Given the description of an element on the screen output the (x, y) to click on. 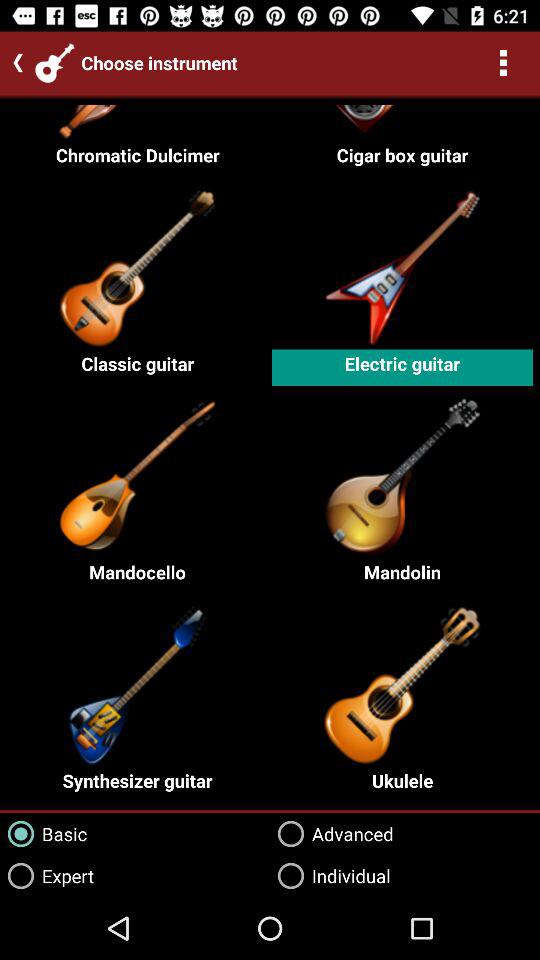
select the image above the text synthesizer guitar on the web page (137, 683)
click on the image above mandocello (137, 473)
click on the second right image (402, 473)
click on the guitar icon at top left corner (55, 63)
click on the last image which is on right (402, 683)
